Given the description of an element on the screen output the (x, y) to click on. 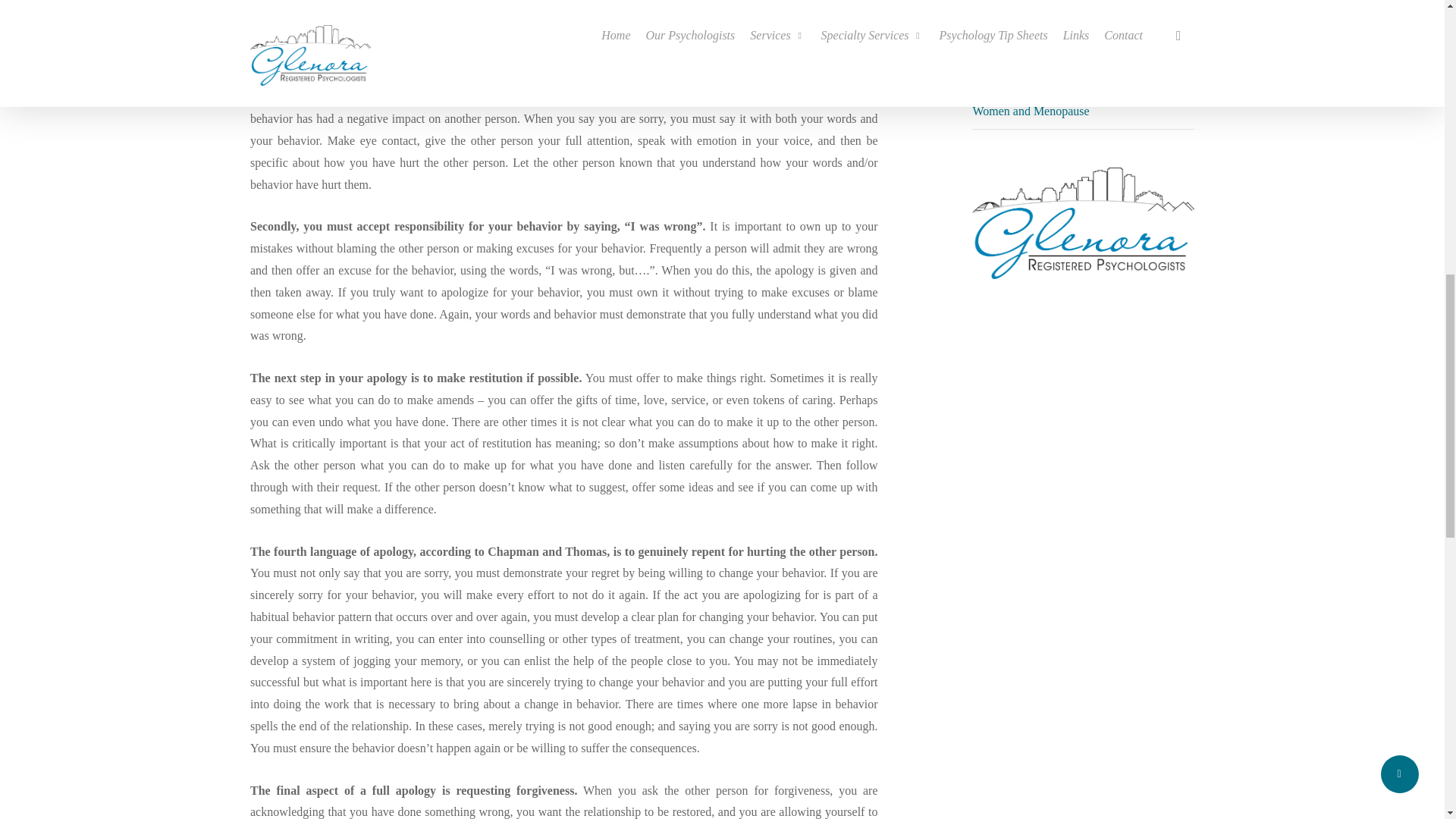
Women and Menopause (1030, 110)
Mental Health Strategies for Coping with the Coronavirus (1081, 30)
